Given the description of an element on the screen output the (x, y) to click on. 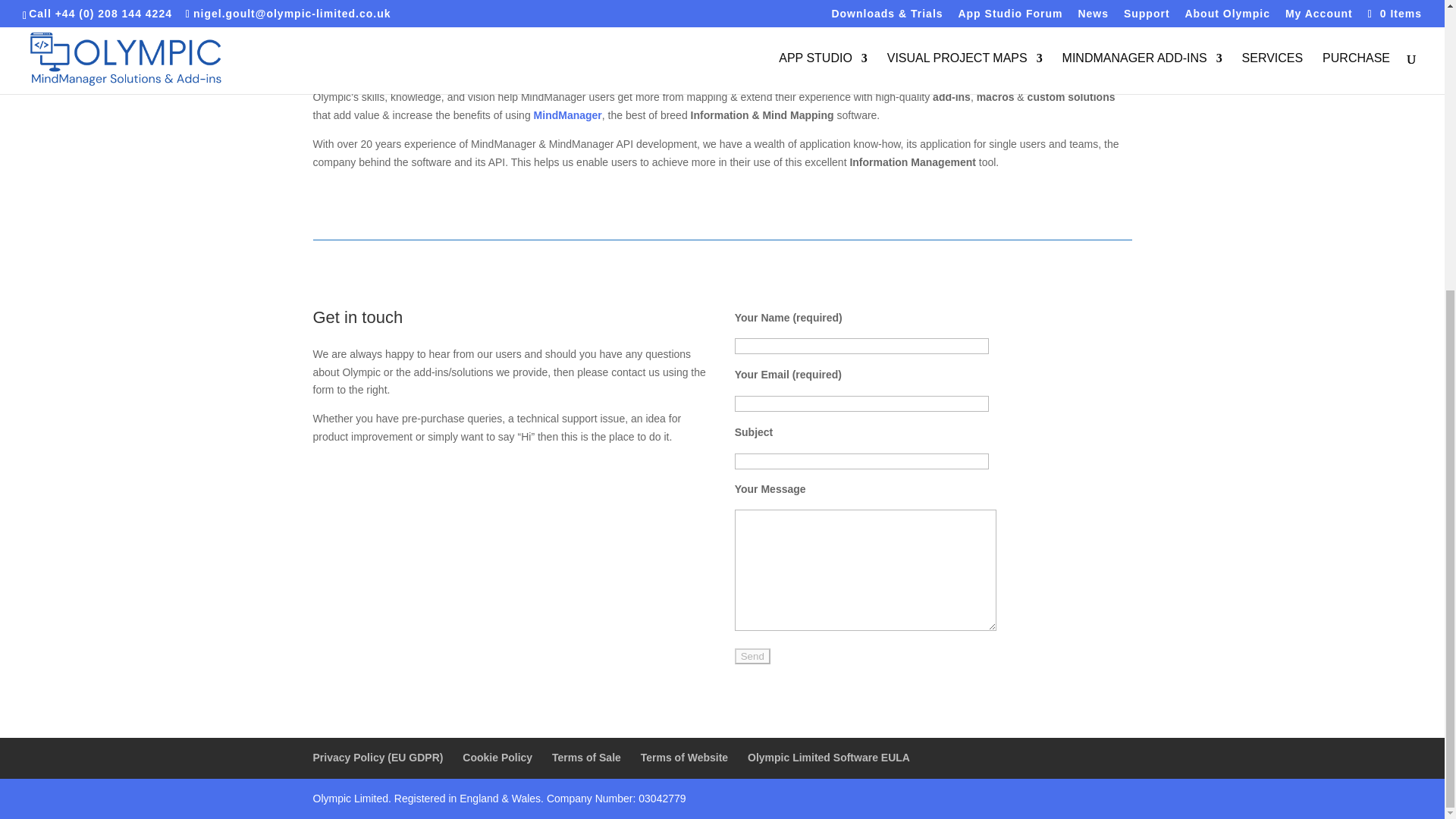
MindManager (566, 114)
Send (752, 656)
Send (752, 656)
MindManager (566, 114)
